Given the description of an element on the screen output the (x, y) to click on. 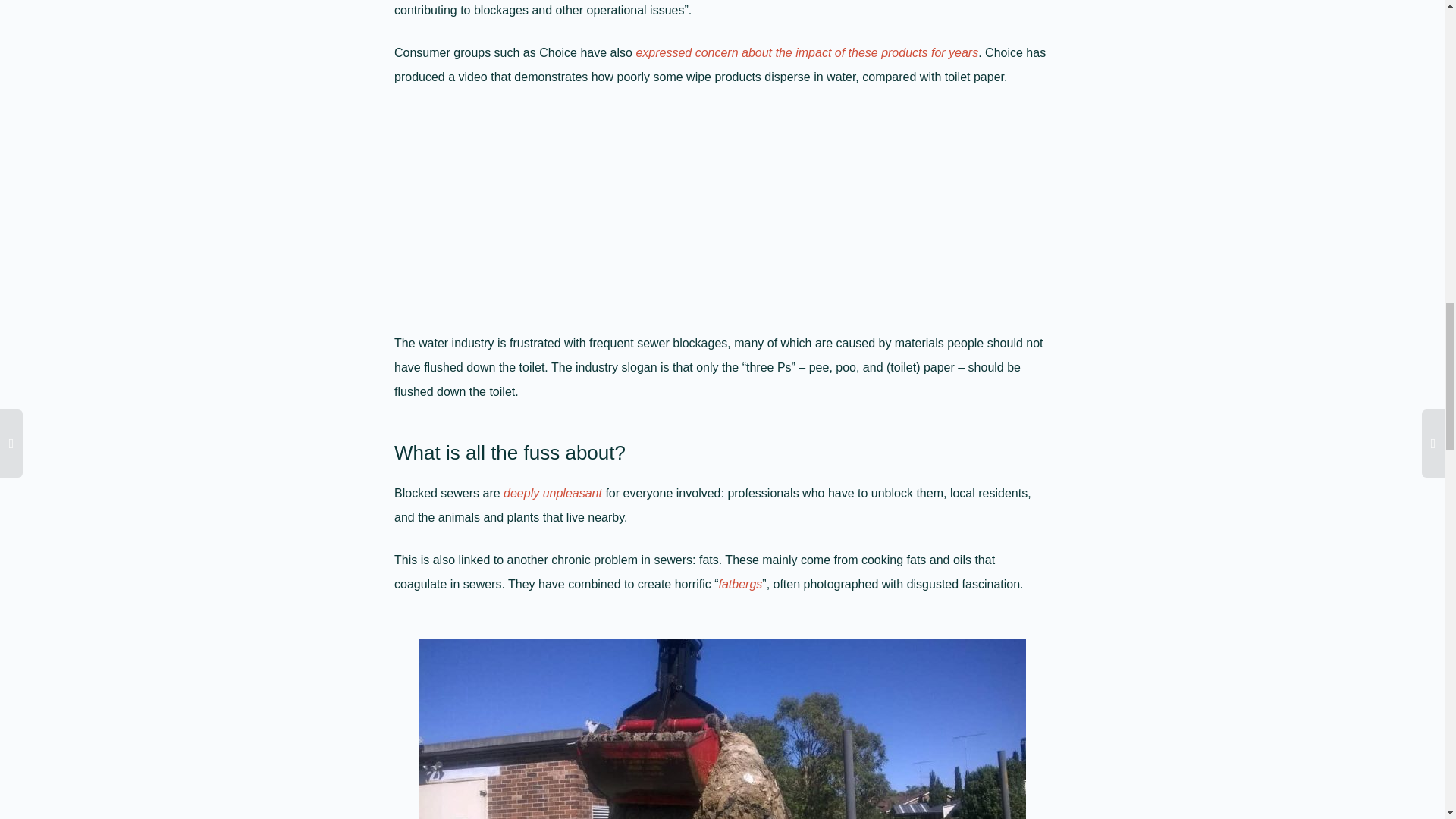
fatbergs (739, 584)
deeply unpleasant (552, 492)
